Given the description of an element on the screen output the (x, y) to click on. 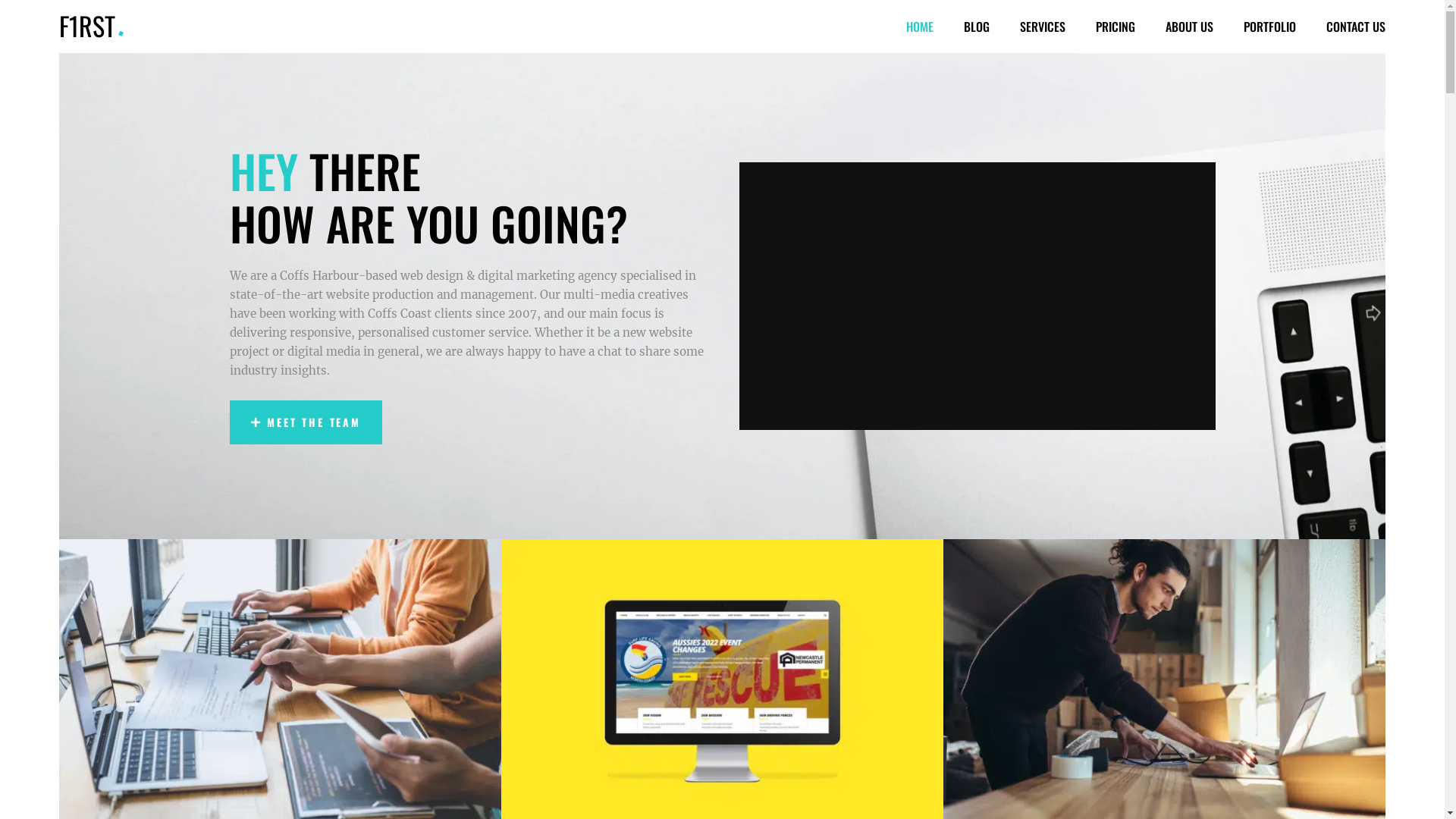
PRICING Element type: text (1115, 26)
Vimeo video player Element type: hover (977, 295)
HOME Element type: text (919, 26)
CONTACT US Element type: text (1355, 26)
BLOG Element type: text (976, 26)
PORTFOLIO Element type: text (1269, 26)
F1RST Element type: text (87, 25)
ABOUT US Element type: text (1189, 26)
SERVICES Element type: text (1042, 26)
MEET THE TEAM Element type: text (305, 422)
